Given the description of an element on the screen output the (x, y) to click on. 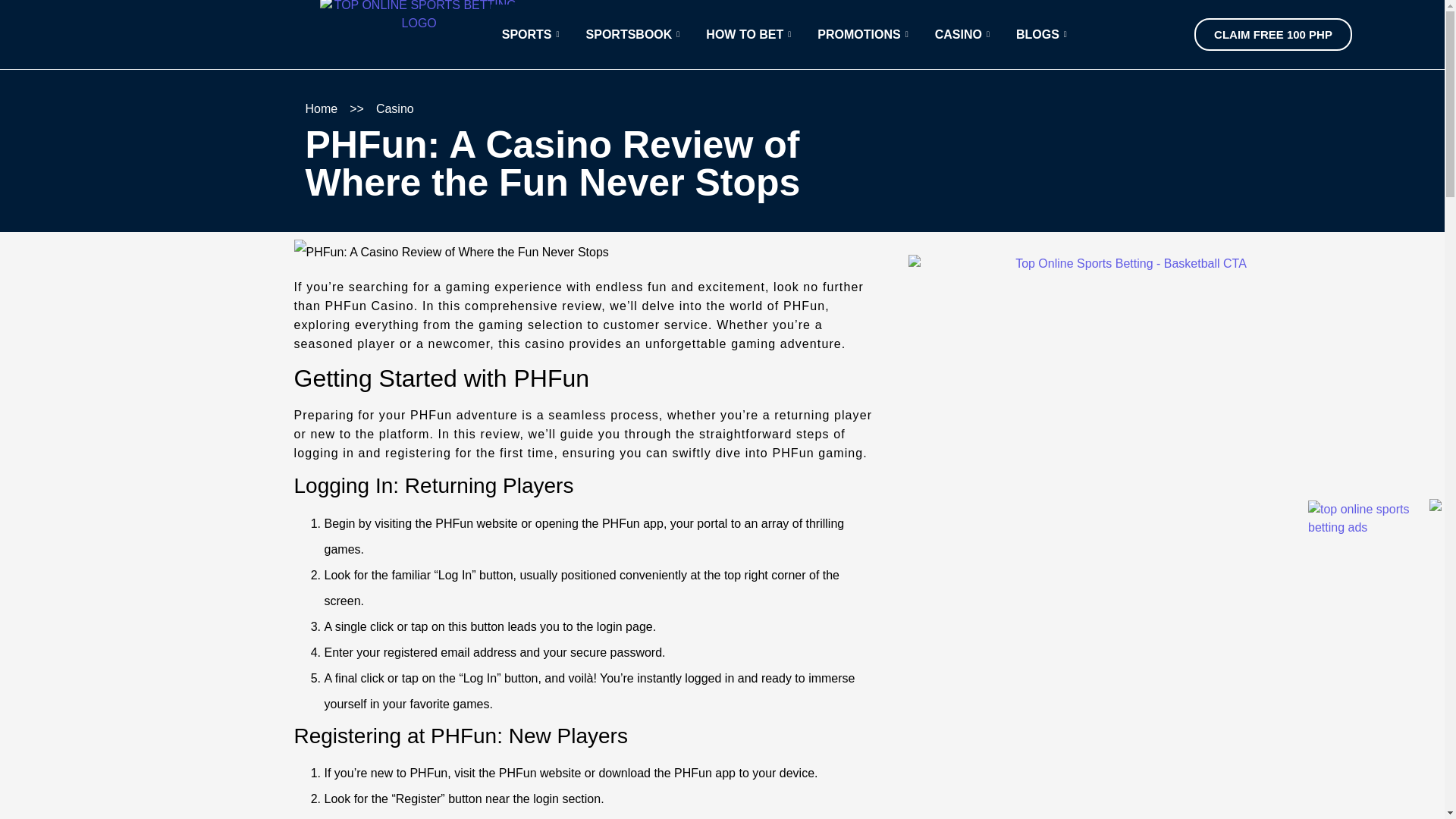
SPORTS (532, 34)
SPORTSBOOK (635, 34)
HOW TO BET (750, 34)
